Given the description of an element on the screen output the (x, y) to click on. 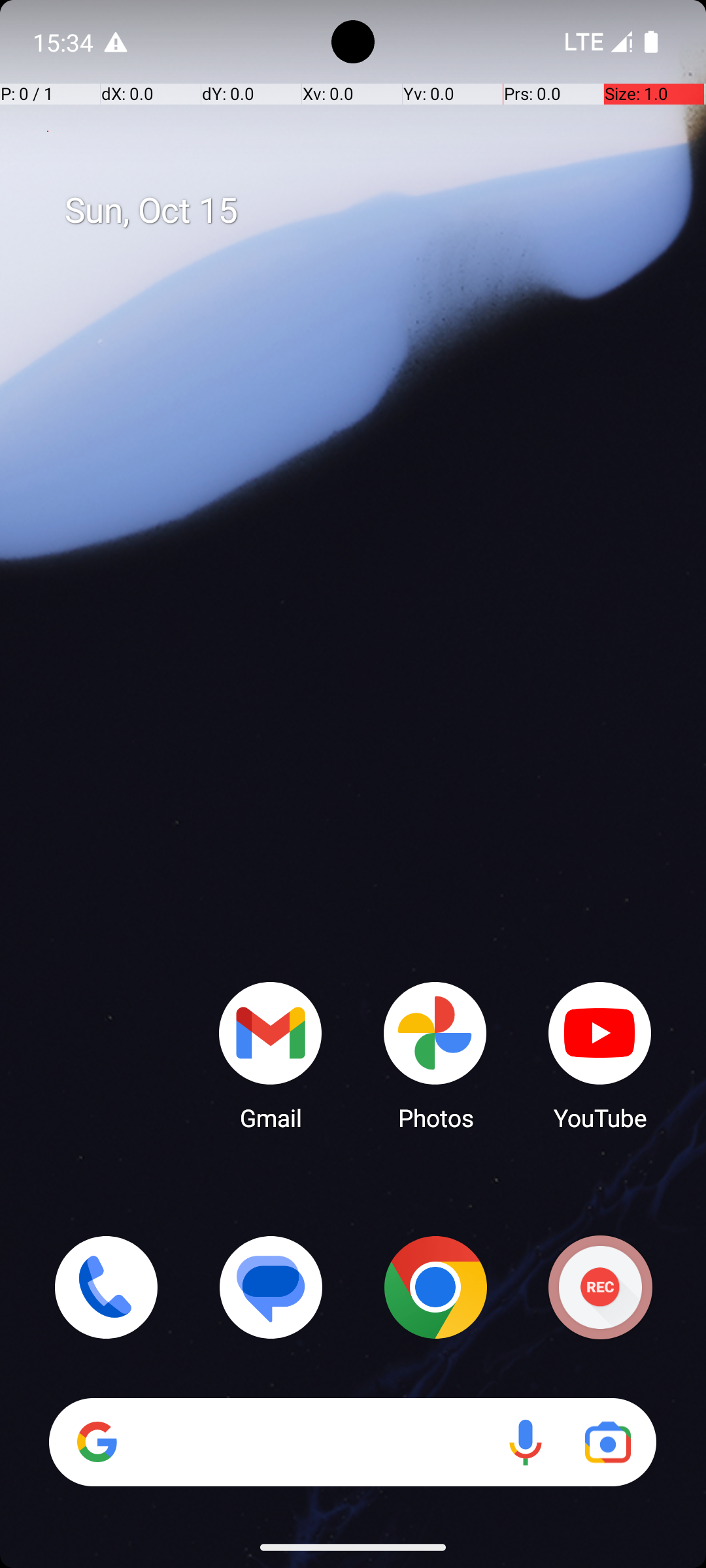
Home Element type: android.view.View (353, 804)
Phone Element type: android.widget.TextView (105, 1287)
Messages Element type: android.widget.TextView (270, 1287)
Chrome Element type: android.widget.TextView (435, 1287)
Search Element type: android.widget.FrameLayout (352, 1442)
Sun, Oct 15 Element type: android.widget.TextView (366, 210)
Gmail Element type: android.widget.TextView (270, 1054)
Photos Element type: android.widget.TextView (435, 1054)
YouTube Element type: android.widget.TextView (599, 1054)
Google app Element type: android.widget.ImageView (97, 1441)
Voice search Element type: android.widget.ImageView (525, 1442)
Google Lens Element type: android.widget.ImageButton (607, 1442)
